Given the description of an element on the screen output the (x, y) to click on. 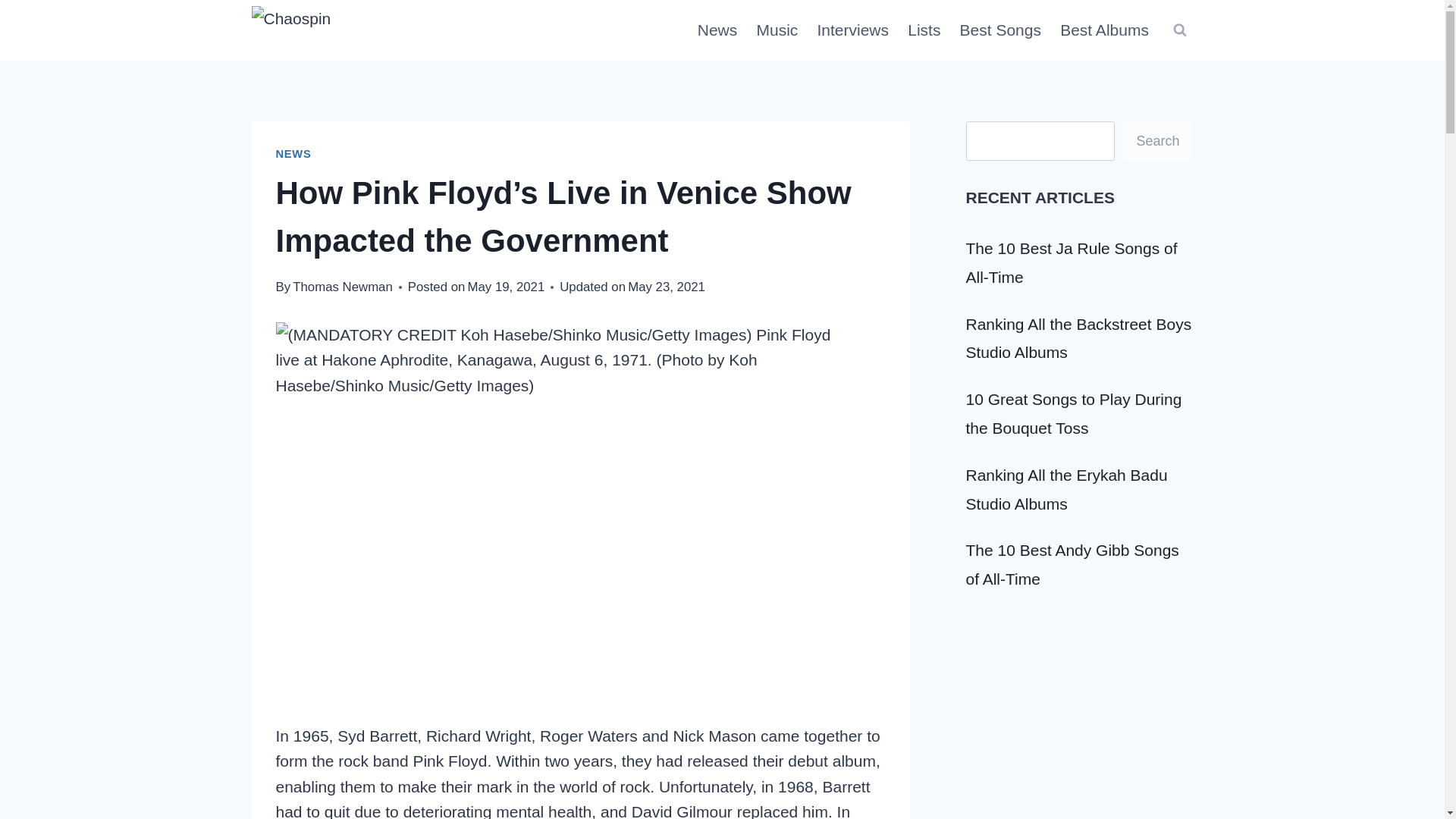
News (716, 30)
Thomas Newman (342, 287)
NEWS (293, 153)
Lists (924, 30)
Interviews (853, 30)
Best Albums (1104, 30)
Music (777, 30)
Best Songs (1000, 30)
